Given the description of an element on the screen output the (x, y) to click on. 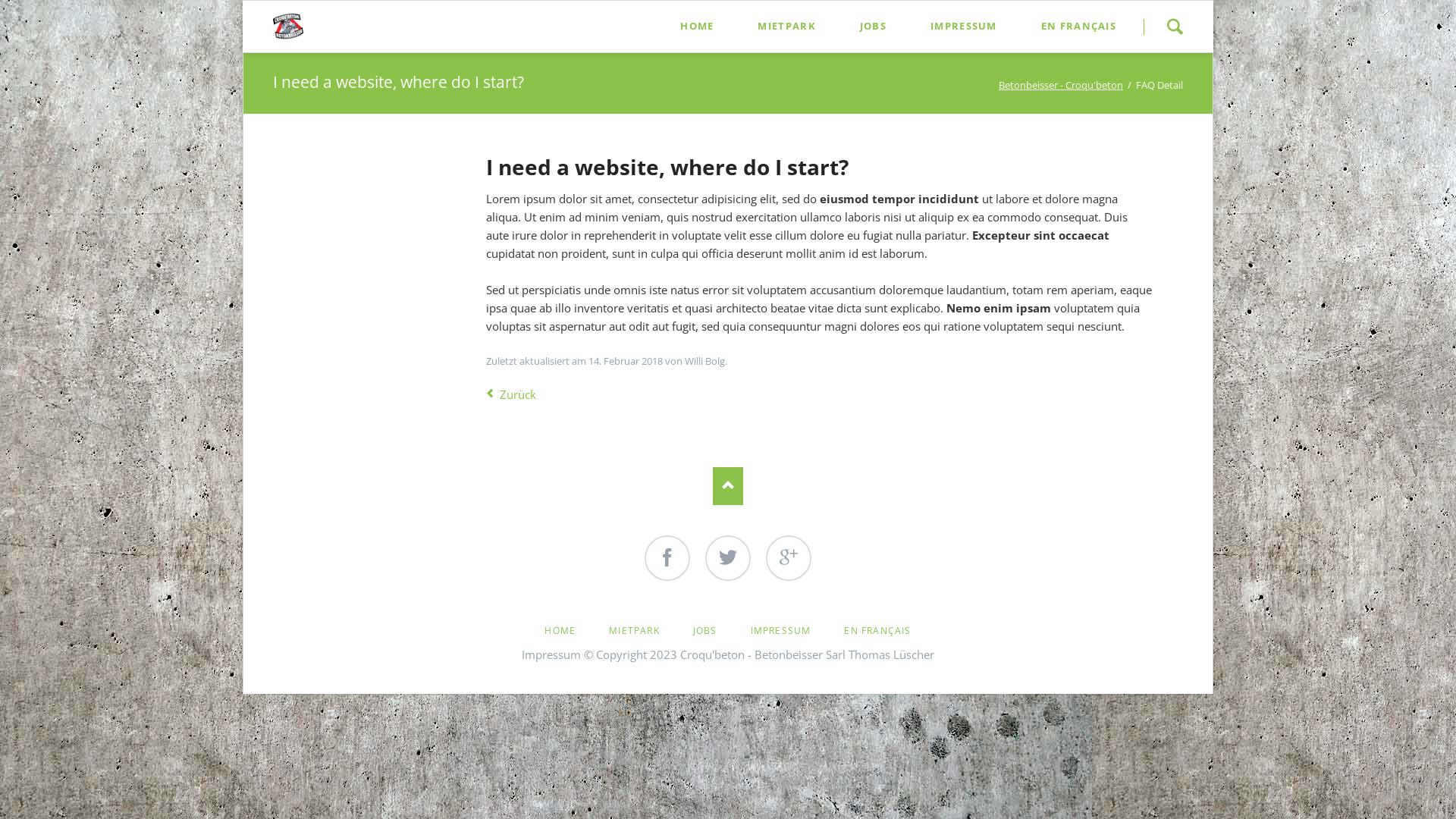
HOME Element type: text (559, 630)
Nach oben Element type: text (727, 486)
MIETPARK Element type: text (633, 630)
Google+ Element type: text (788, 557)
Twitter Element type: text (727, 557)
HOME Element type: text (696, 25)
MIETPARK Element type: text (785, 25)
JOBS Element type: text (704, 630)
Facebook Element type: text (667, 557)
IMPRESSUM Element type: text (780, 630)
JOBS Element type: text (873, 25)
Betonbeisser - Croqu'beton Element type: text (1060, 84)
Finden Element type: text (1174, 26)
Impressum Element type: text (550, 654)
  Element type: text (925, 615)
IMPRESSUM Element type: text (963, 25)
